Given the description of an element on the screen output the (x, y) to click on. 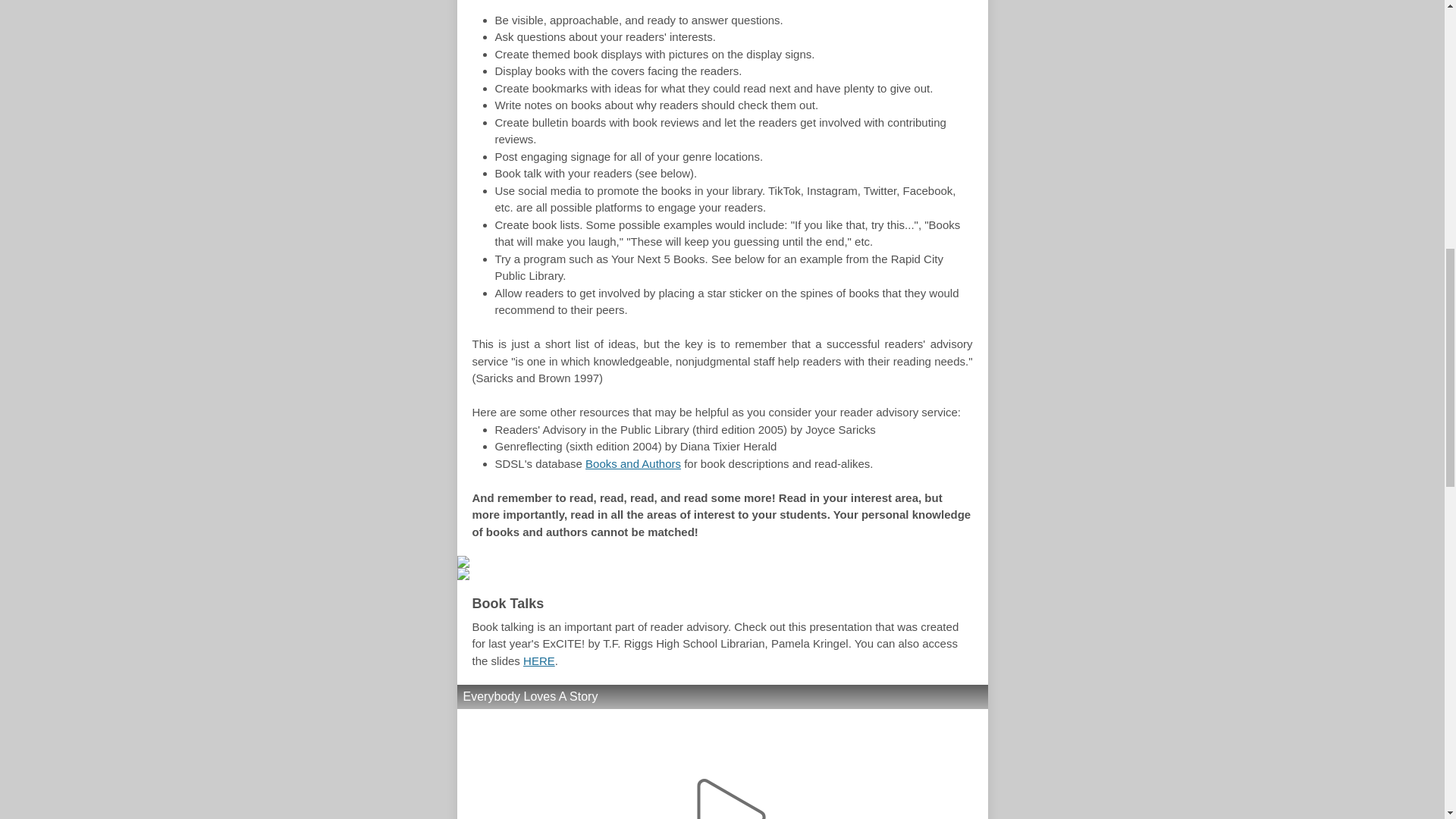
HERE (538, 660)
Everybody Loves A Story (722, 751)
Books and Authors (633, 463)
